Given the description of an element on the screen output the (x, y) to click on. 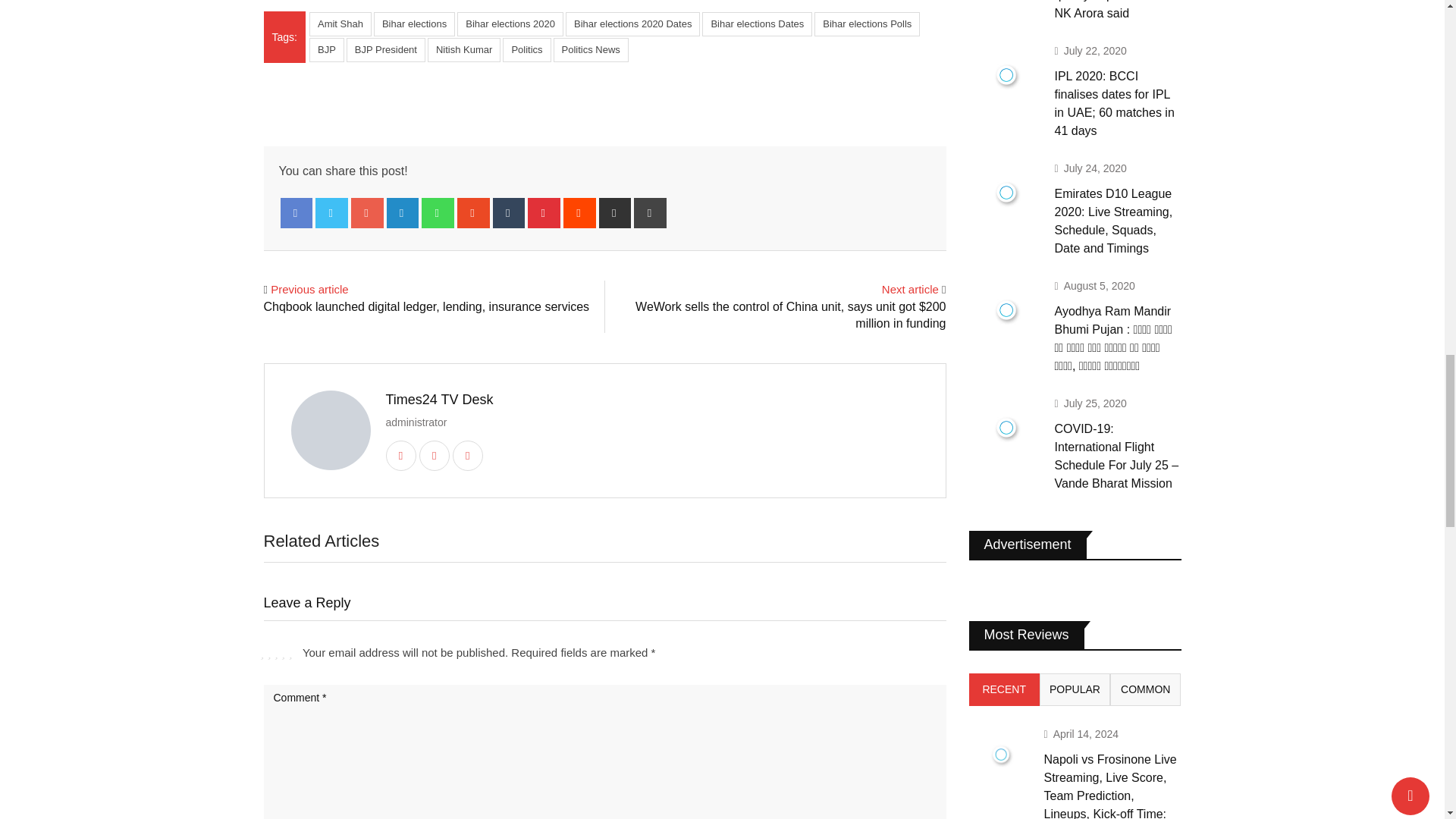
Posts by Times24 TV Desk (439, 399)
